Given the description of an element on the screen output the (x, y) to click on. 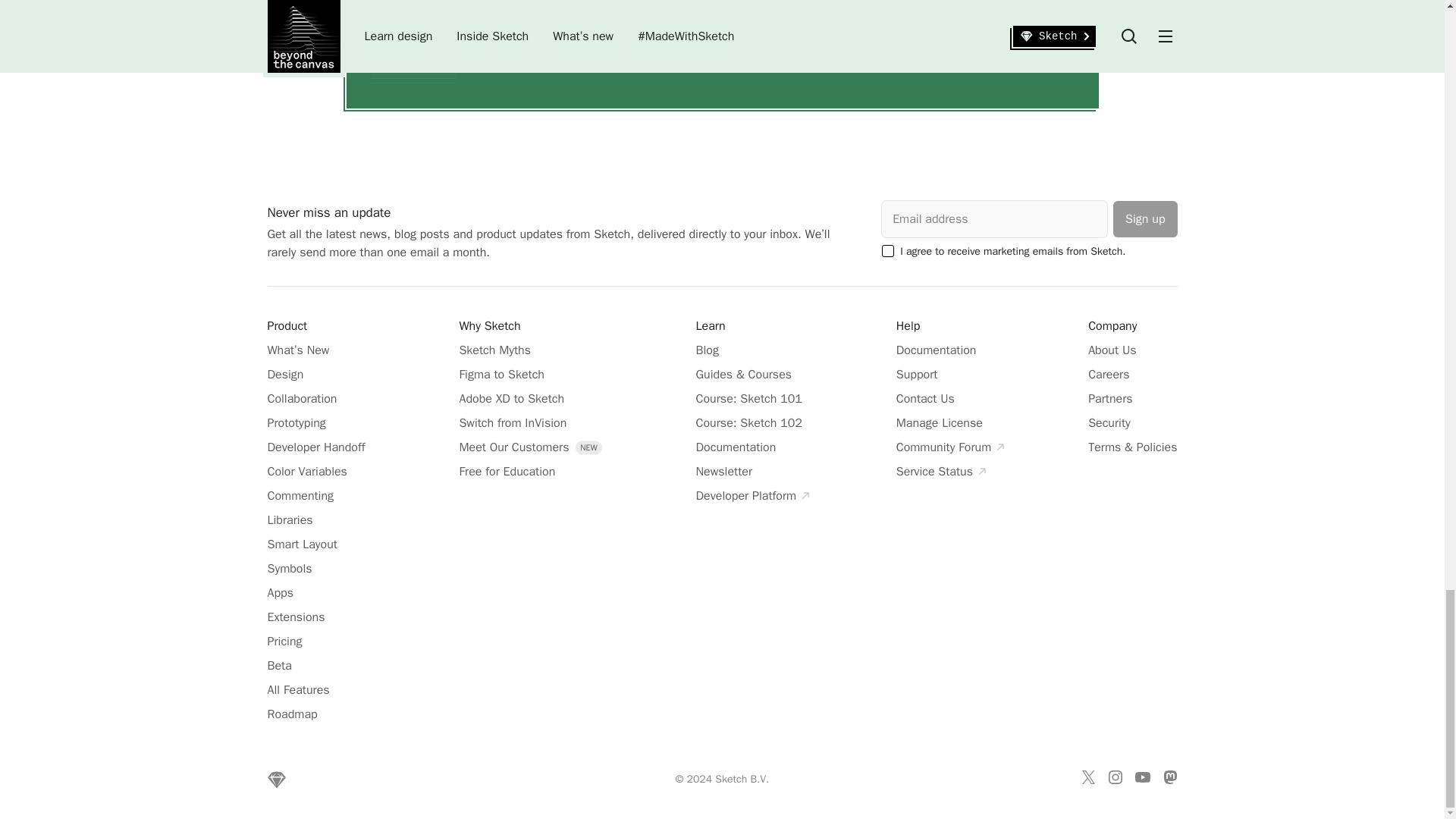
on (887, 250)
